Given the description of an element on the screen output the (x, y) to click on. 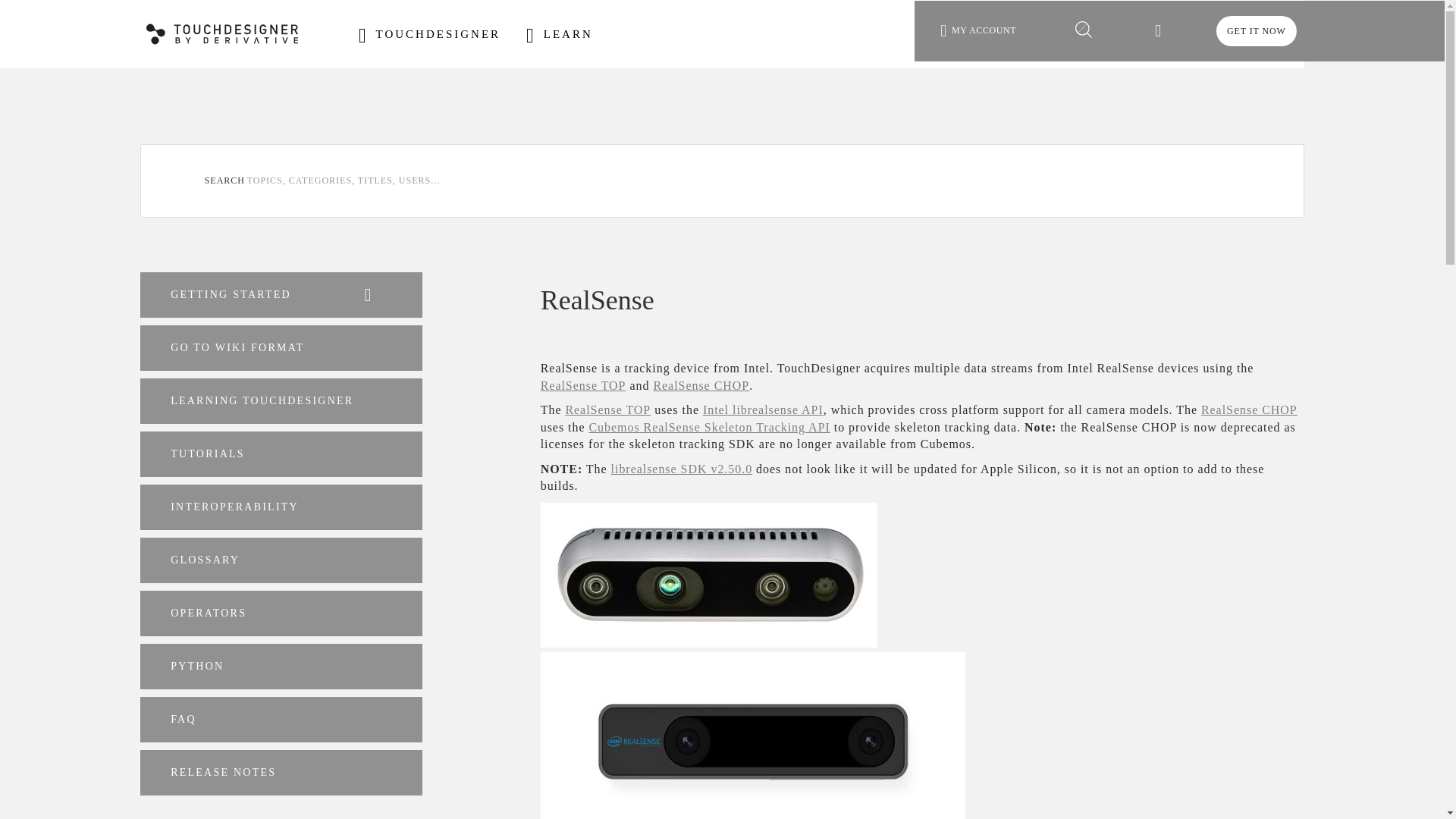
 TOUCHDESIGNER (429, 34)
 LEARN (558, 34)
